Given the description of an element on the screen output the (x, y) to click on. 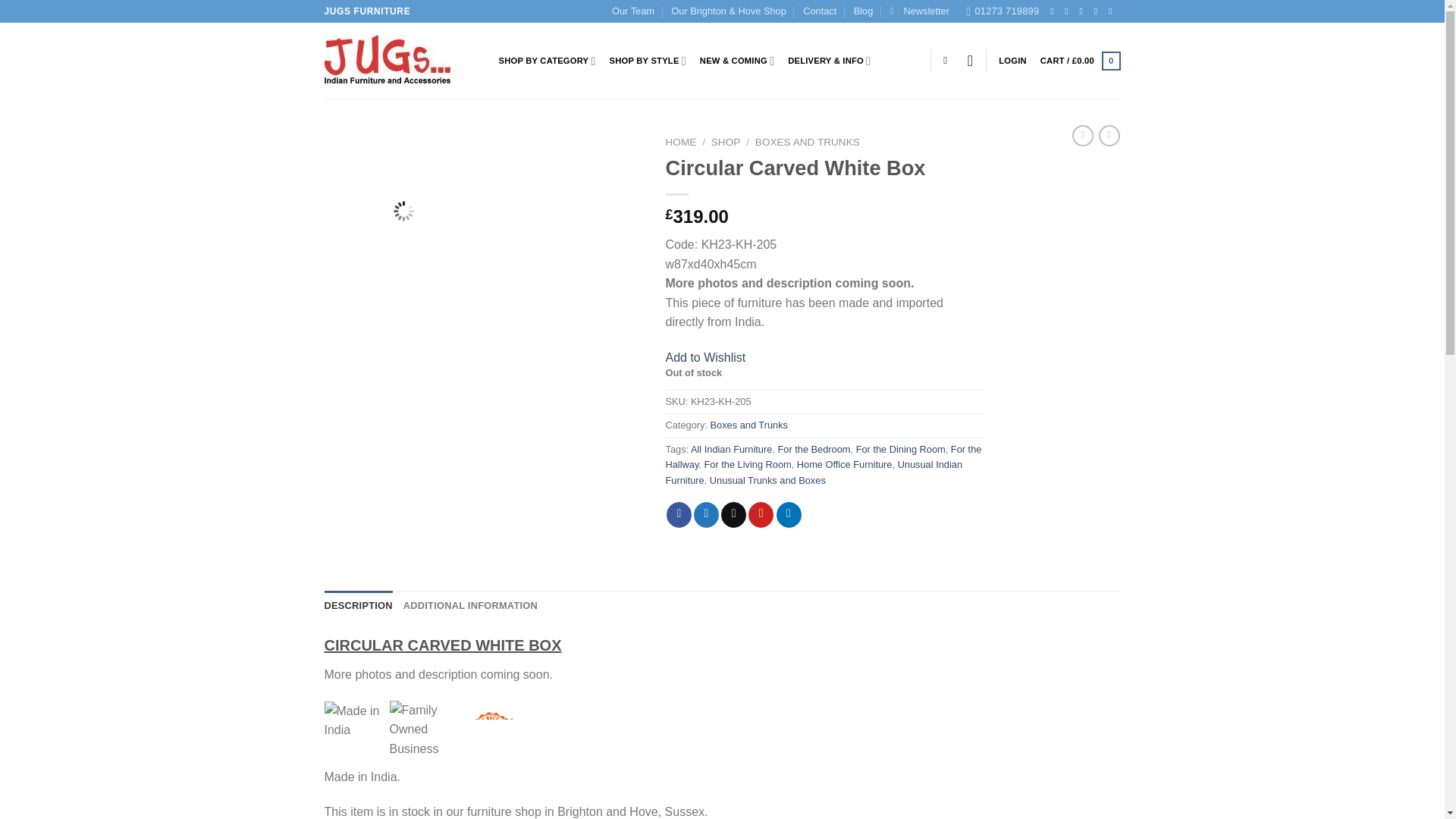
SHOP BY CATEGORY (547, 60)
Cart (1081, 60)
Jugs Furniture - Indian Furniture and Accessories (400, 60)
Sign up for Newsletter (919, 11)
Share on Facebook (678, 514)
01273 719899 (1002, 11)
Newsletter (919, 11)
Contact (819, 11)
Share on Twitter (706, 514)
Login (1012, 60)
Our Team (632, 11)
01273 719899 (1002, 11)
